Given the description of an element on the screen output the (x, y) to click on. 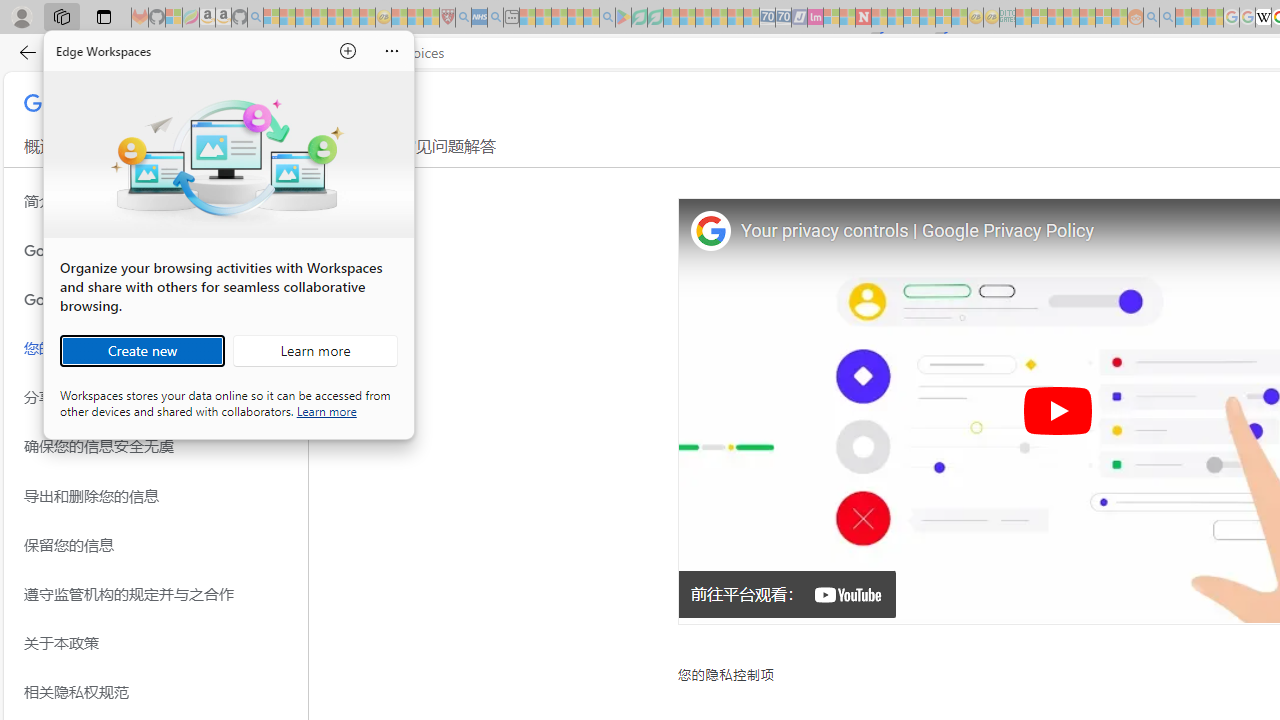
Learn more about Workspaces privacy (326, 410)
